Given the description of an element on the screen output the (x, y) to click on. 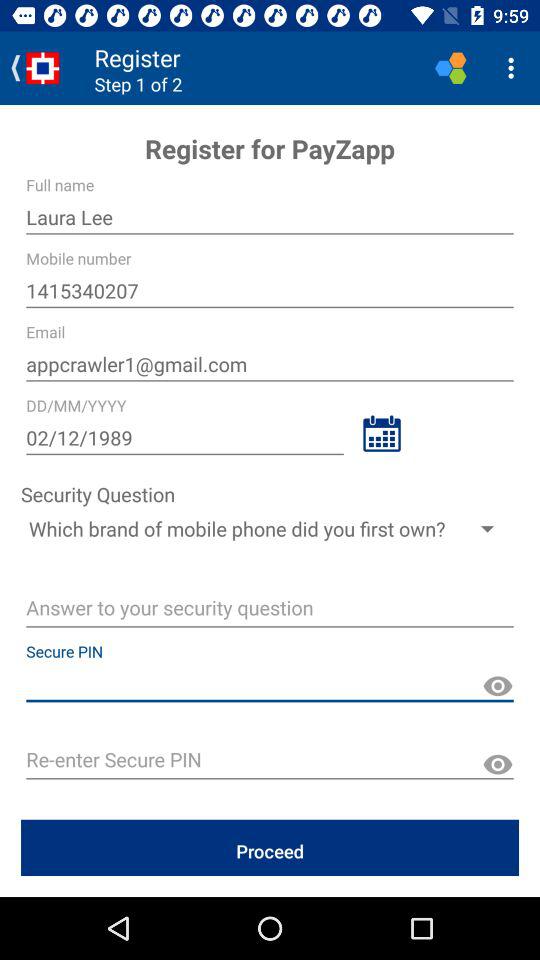
click on menu (514, 68)
click on text field below mobile number (269, 290)
click on calendar icon (381, 433)
select the text box below the security question (269, 528)
select the text which says answer to your security question (269, 610)
choose the logo left side to three dots on top right of page (450, 68)
click on the eye symbol where it says secure pin has to be entered (497, 686)
